Given the description of an element on the screen output the (x, y) to click on. 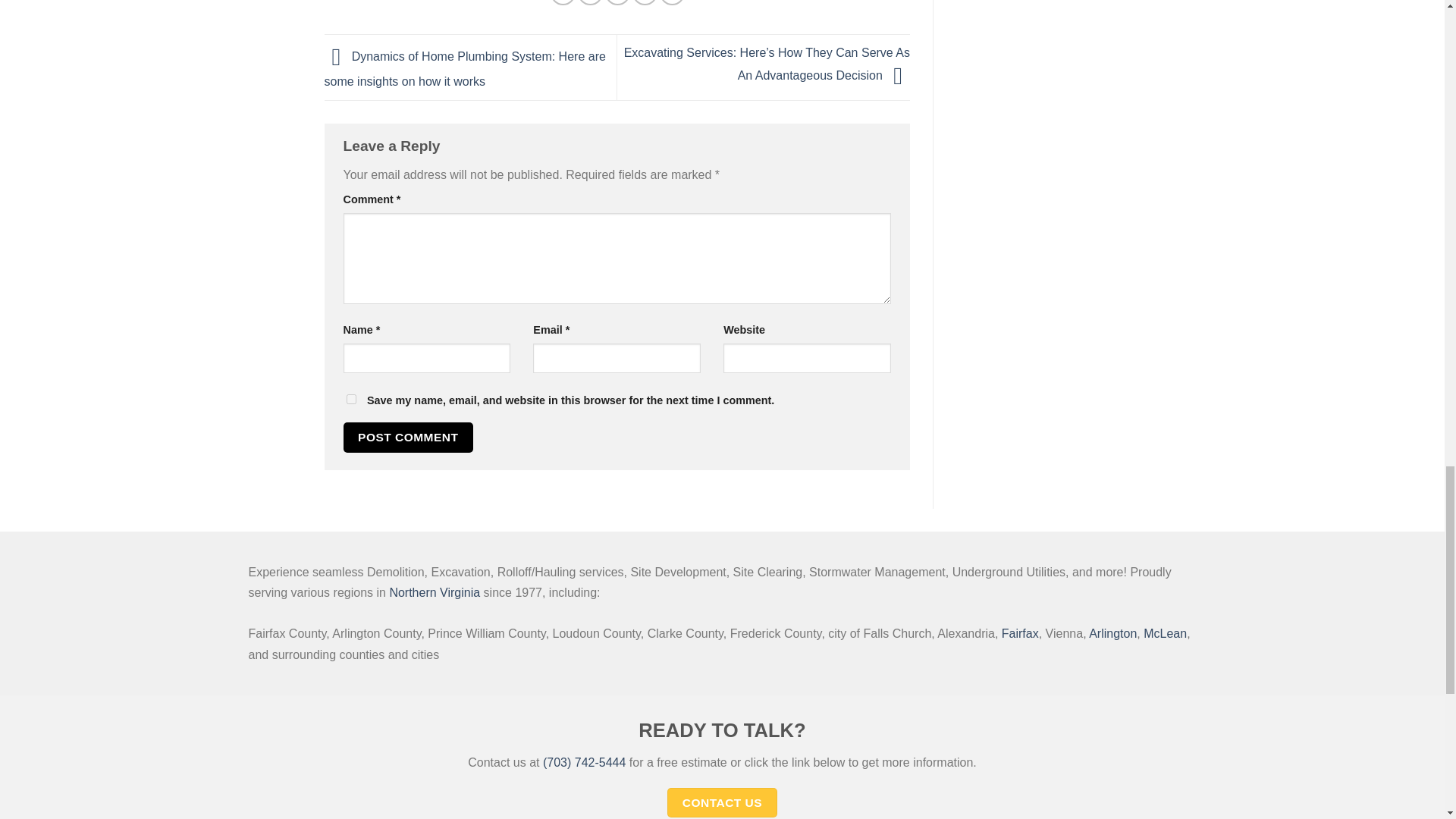
Share on LinkedIn (671, 2)
Post Comment (407, 437)
Share on Twitter (590, 2)
yes (350, 398)
Pin on Pinterest (644, 2)
Share on Facebook (562, 2)
Email to a Friend (617, 2)
